Given the description of an element on the screen output the (x, y) to click on. 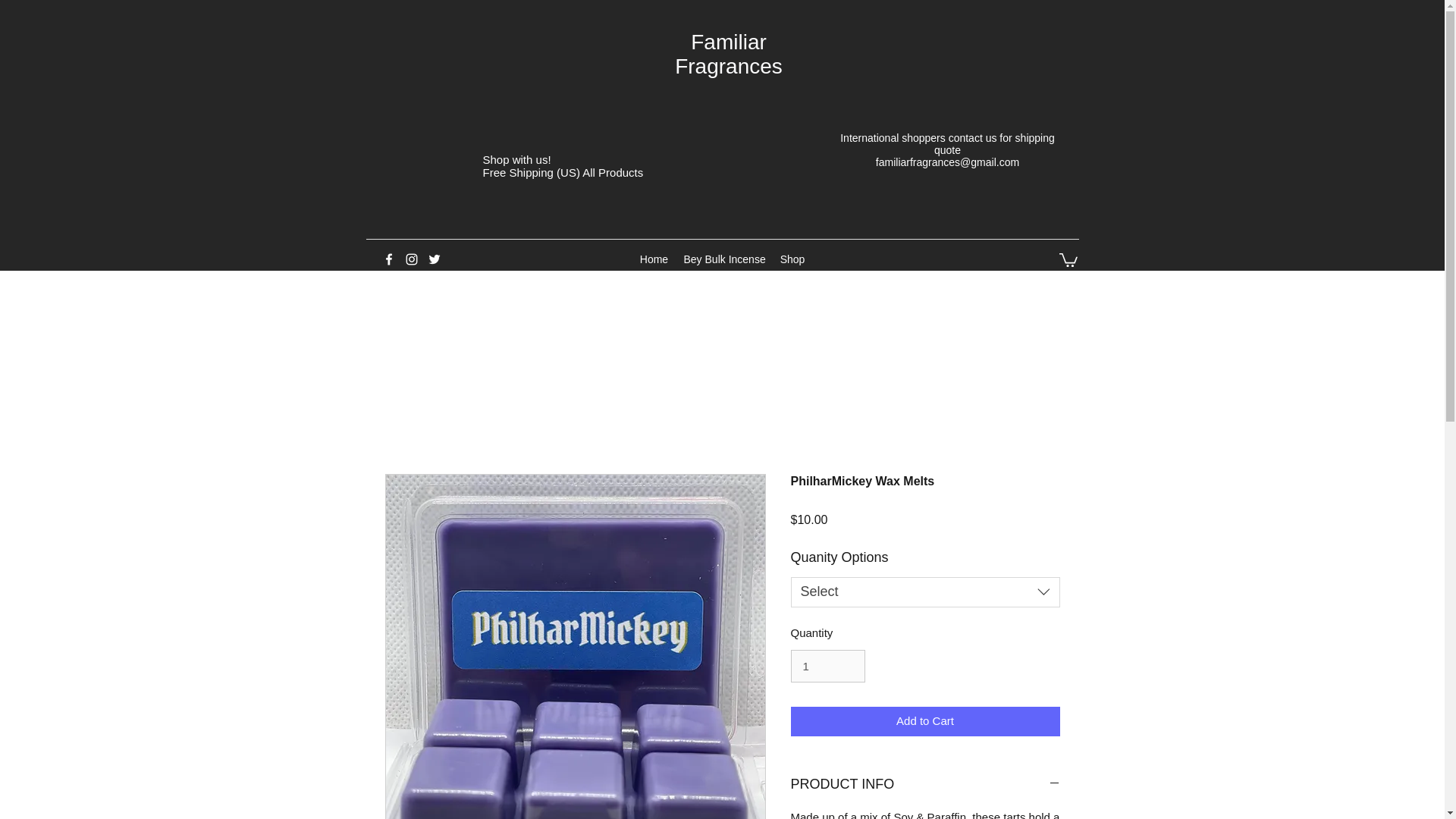
Bey Bulk Incense (725, 259)
Select (924, 592)
Familiar Fragrances (729, 53)
1 (827, 666)
Add to Cart (924, 721)
Shop (791, 259)
Home (654, 259)
PRODUCT INFO (924, 784)
